Given the description of an element on the screen output the (x, y) to click on. 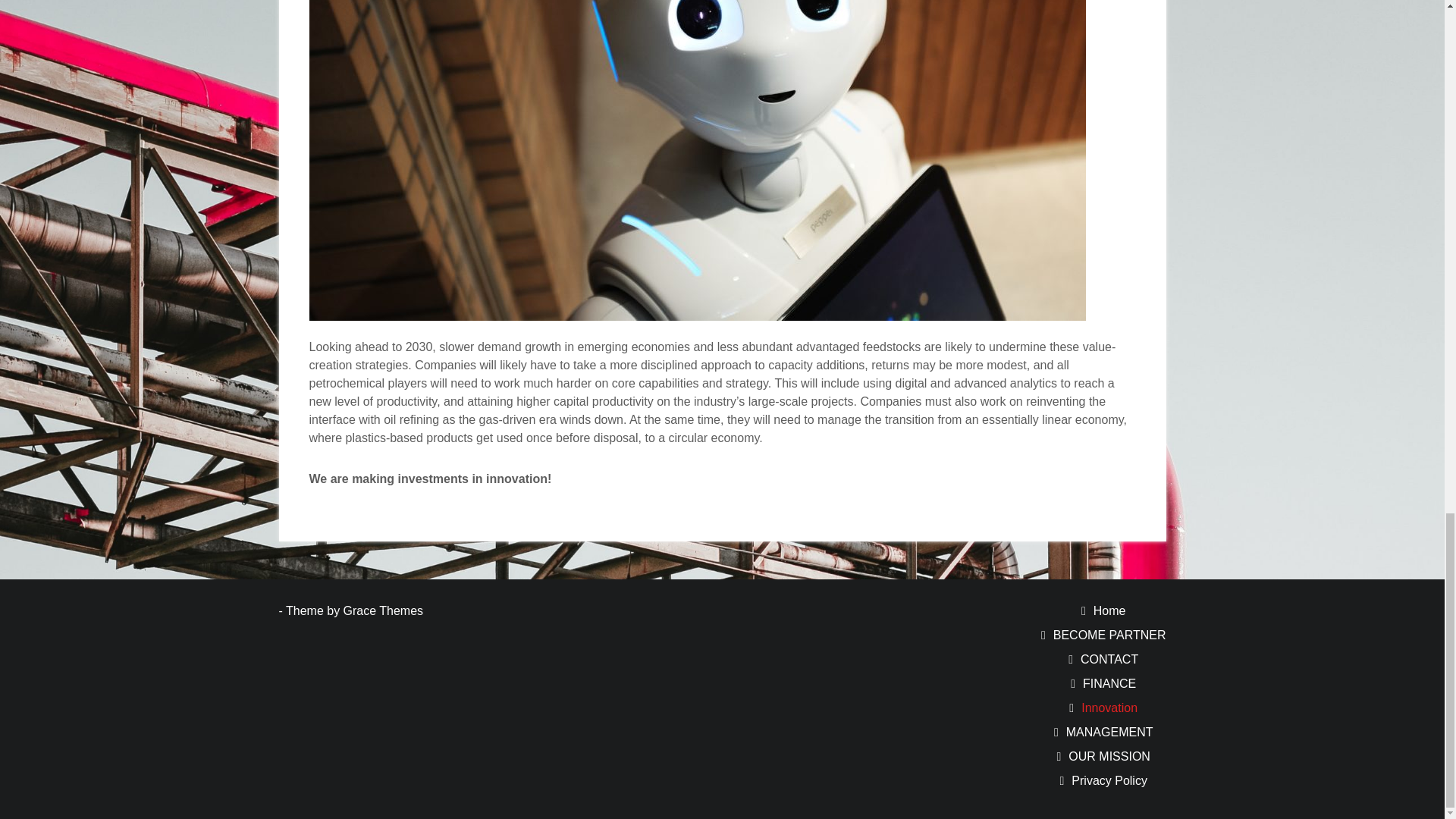
OUR MISSION (1109, 756)
Innovation (1109, 707)
Home (1109, 610)
FINANCE (1109, 683)
CONTACT (1109, 658)
MANAGEMENT (1109, 731)
Privacy Policy (1109, 780)
BECOME PARTNER (1109, 634)
